Given the description of an element on the screen output the (x, y) to click on. 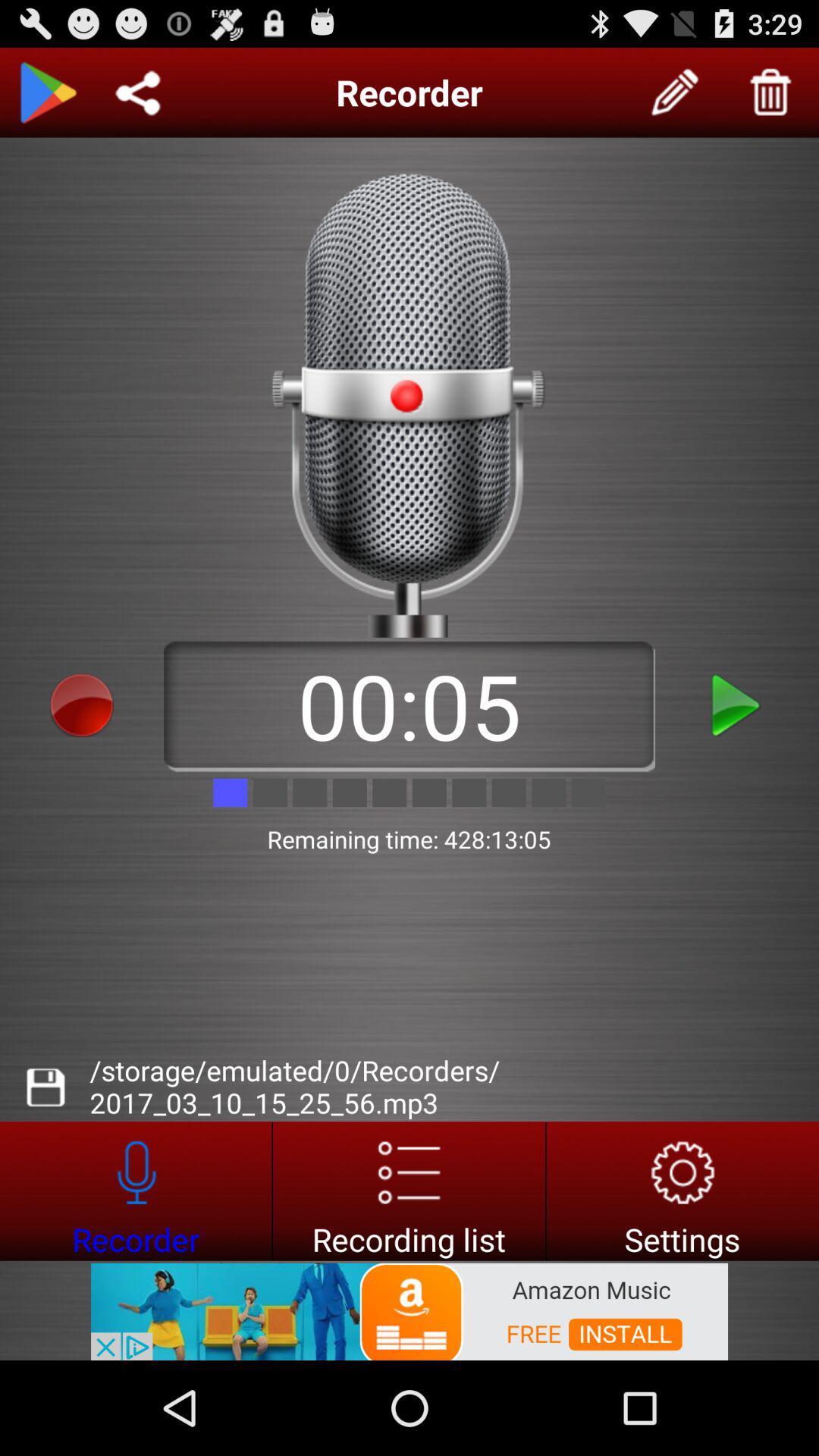
share recording (137, 92)
